Given the description of an element on the screen output the (x, y) to click on. 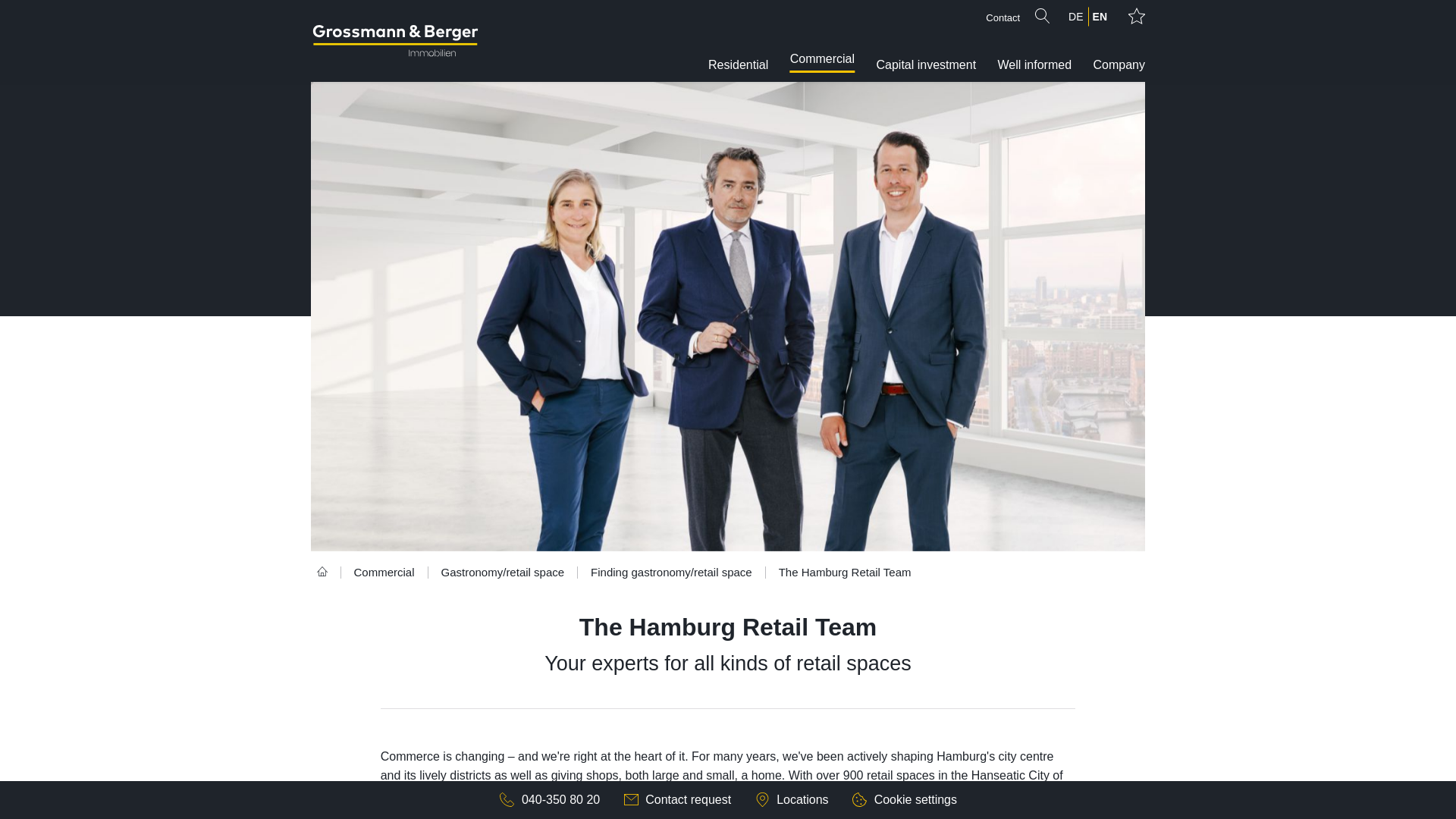
Residential (737, 40)
Well informed (1034, 40)
Commercial (821, 38)
Capital investment (925, 40)
www.grossmann-berger.de (394, 40)
